Given the description of an element on the screen output the (x, y) to click on. 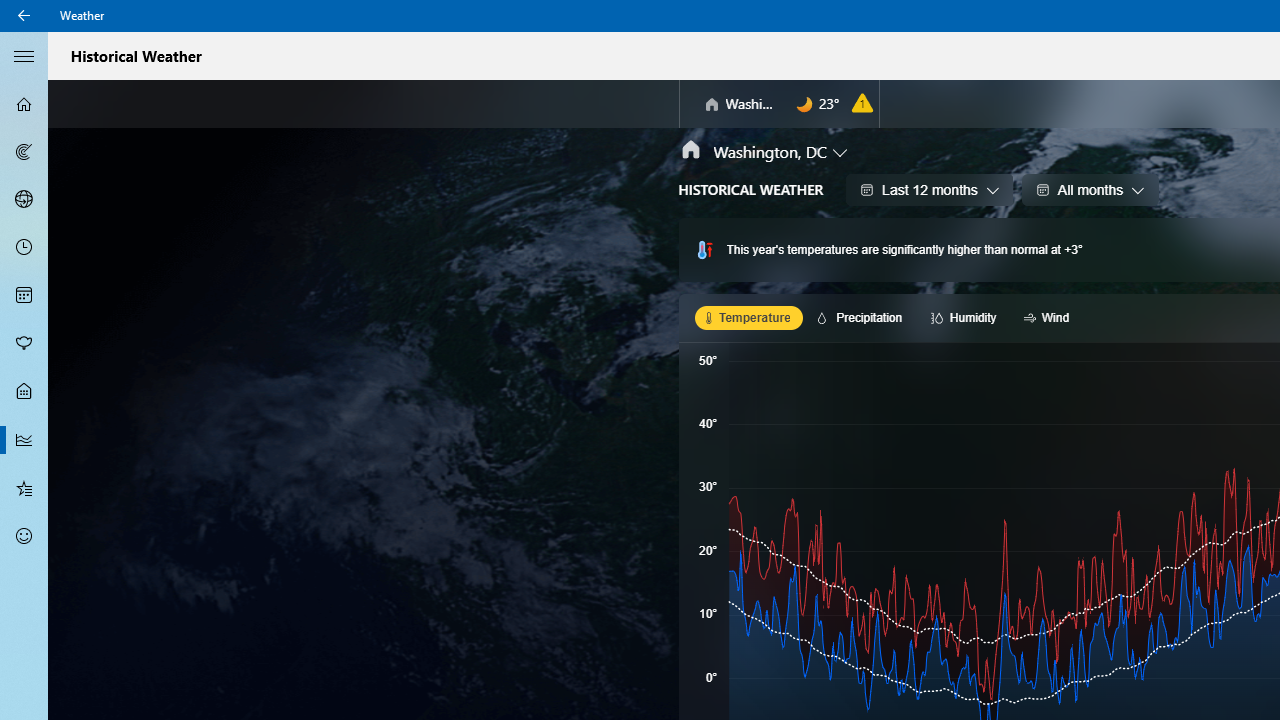
Favorites - Not Selected (24, 487)
3D Maps - Not Selected (24, 199)
Pollen - Not Selected (24, 343)
Life - Not Selected (24, 391)
Monthly Forecast - Not Selected (24, 295)
Historical Weather - Not Selected (24, 439)
Hourly Forecast - Not Selected (24, 247)
